Given the description of an element on the screen output the (x, y) to click on. 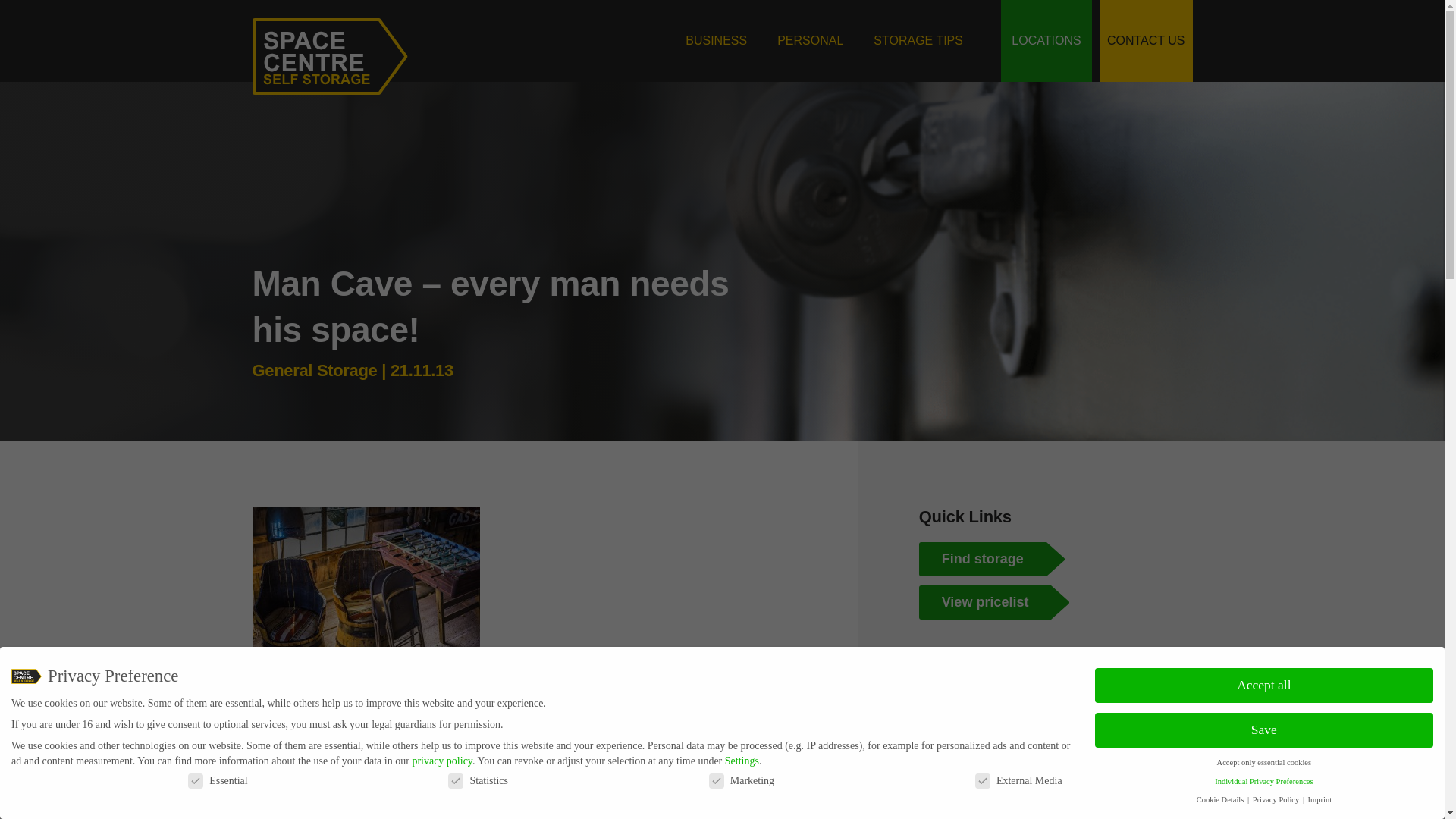
STORAGE TIPS (918, 40)
BUSINESS (715, 40)
View pricelist (1036, 602)
privacy policy (441, 760)
LOCATIONS (1046, 40)
CONTACT US (1145, 40)
Find storage (1036, 559)
PERSONAL (810, 40)
